Given the description of an element on the screen output the (x, y) to click on. 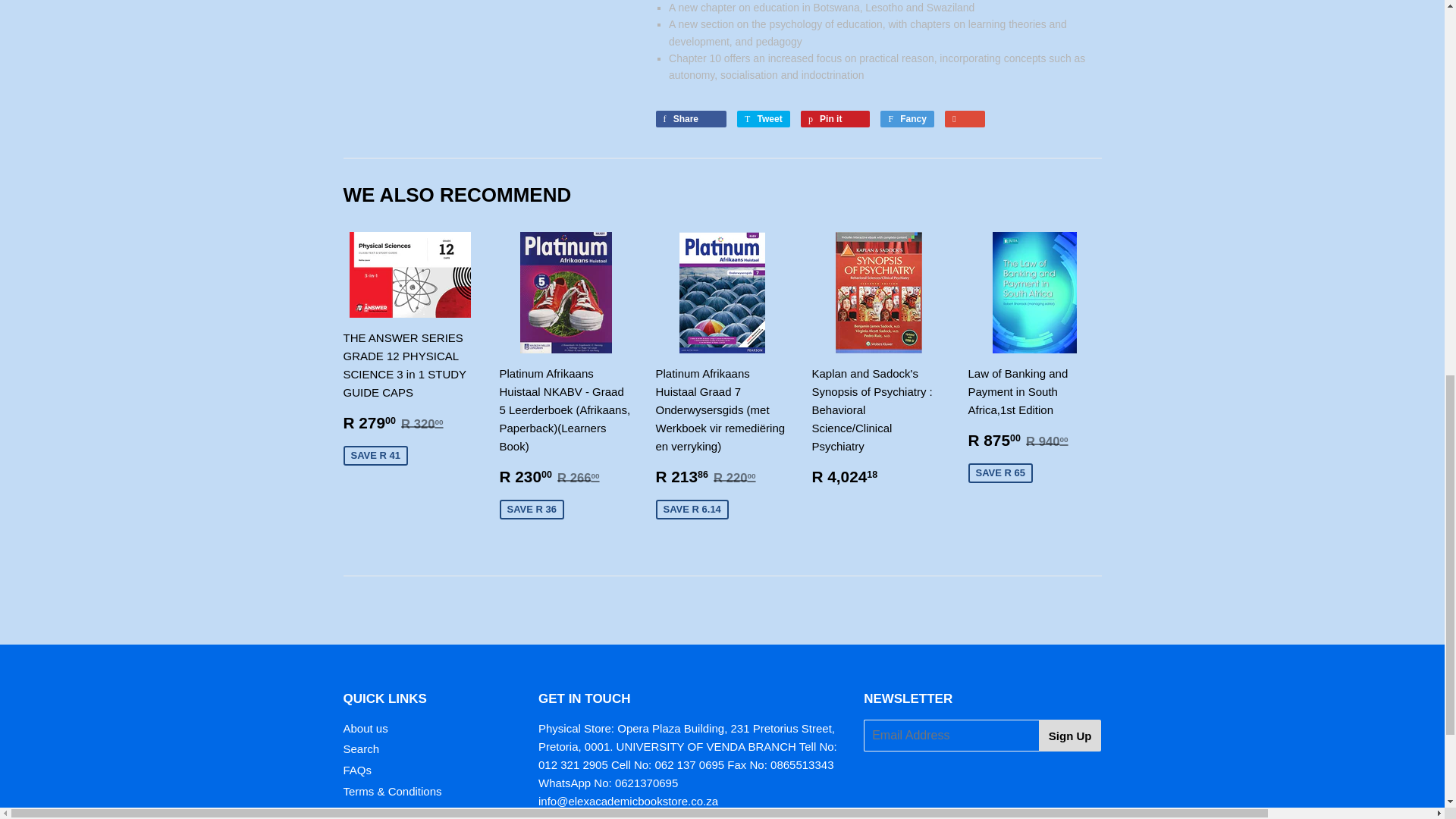
Sign Up (1070, 735)
